Given the description of an element on the screen output the (x, y) to click on. 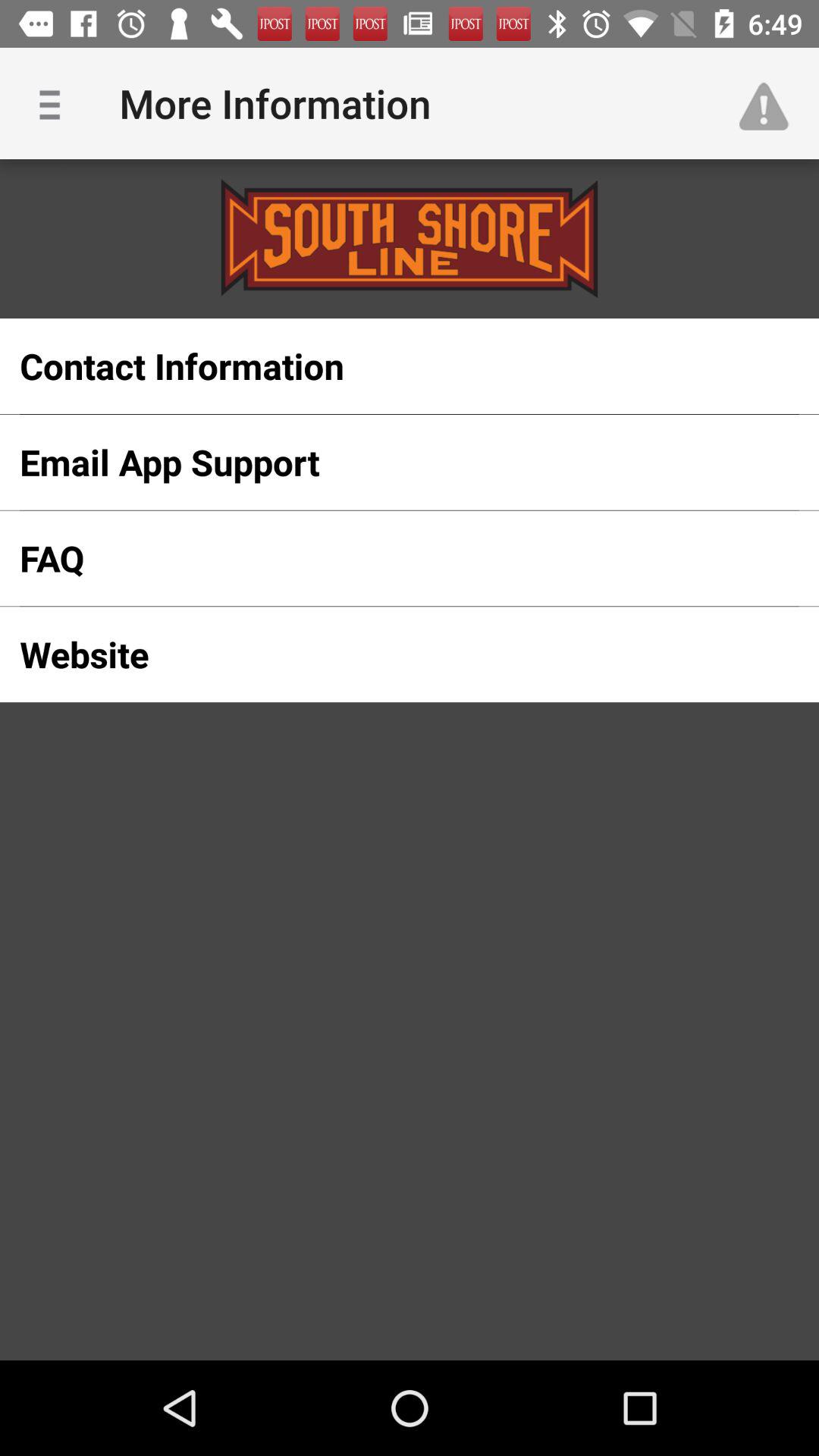
select item above the website (385, 558)
